Given the description of an element on the screen output the (x, y) to click on. 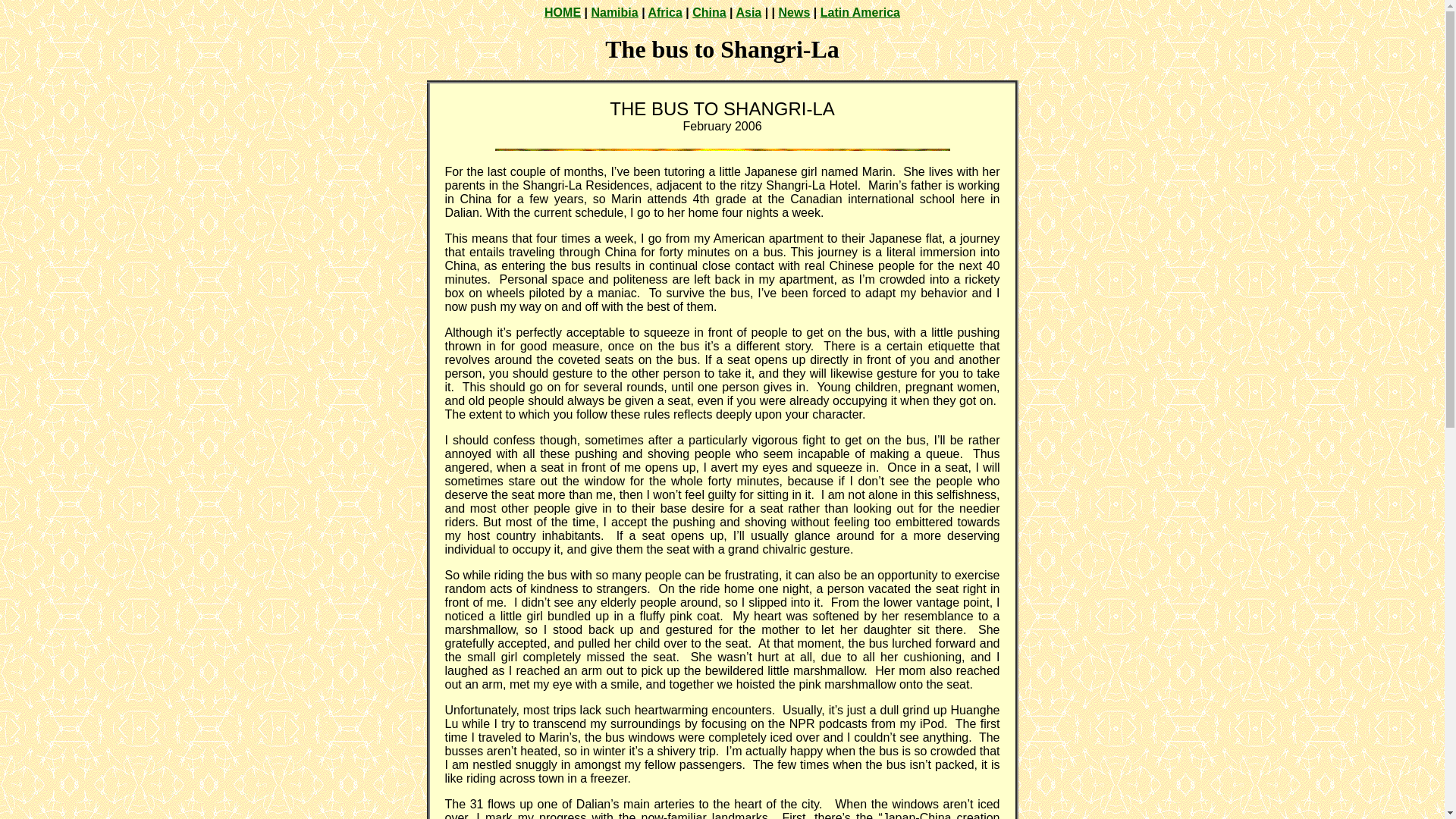
HOME (562, 11)
Latin America (860, 11)
China (709, 11)
Africa (664, 11)
News (794, 11)
Namibia (614, 11)
Asia (748, 11)
